Given the description of an element on the screen output the (x, y) to click on. 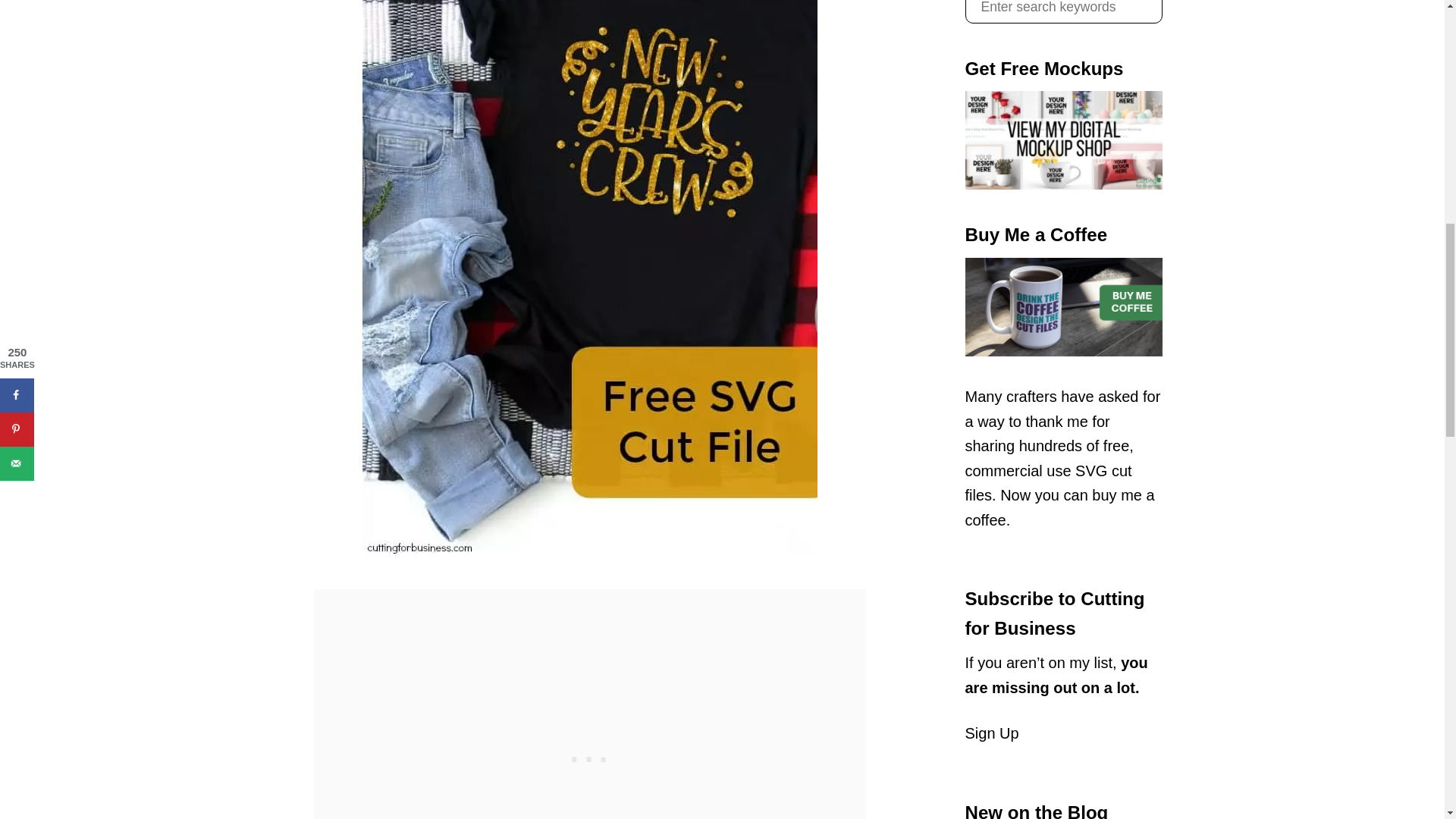
buy me a coffee (1058, 507)
Search for: (1062, 11)
Get Free Mockups (1062, 139)
Sign Up (990, 733)
